Given the description of an element on the screen output the (x, y) to click on. 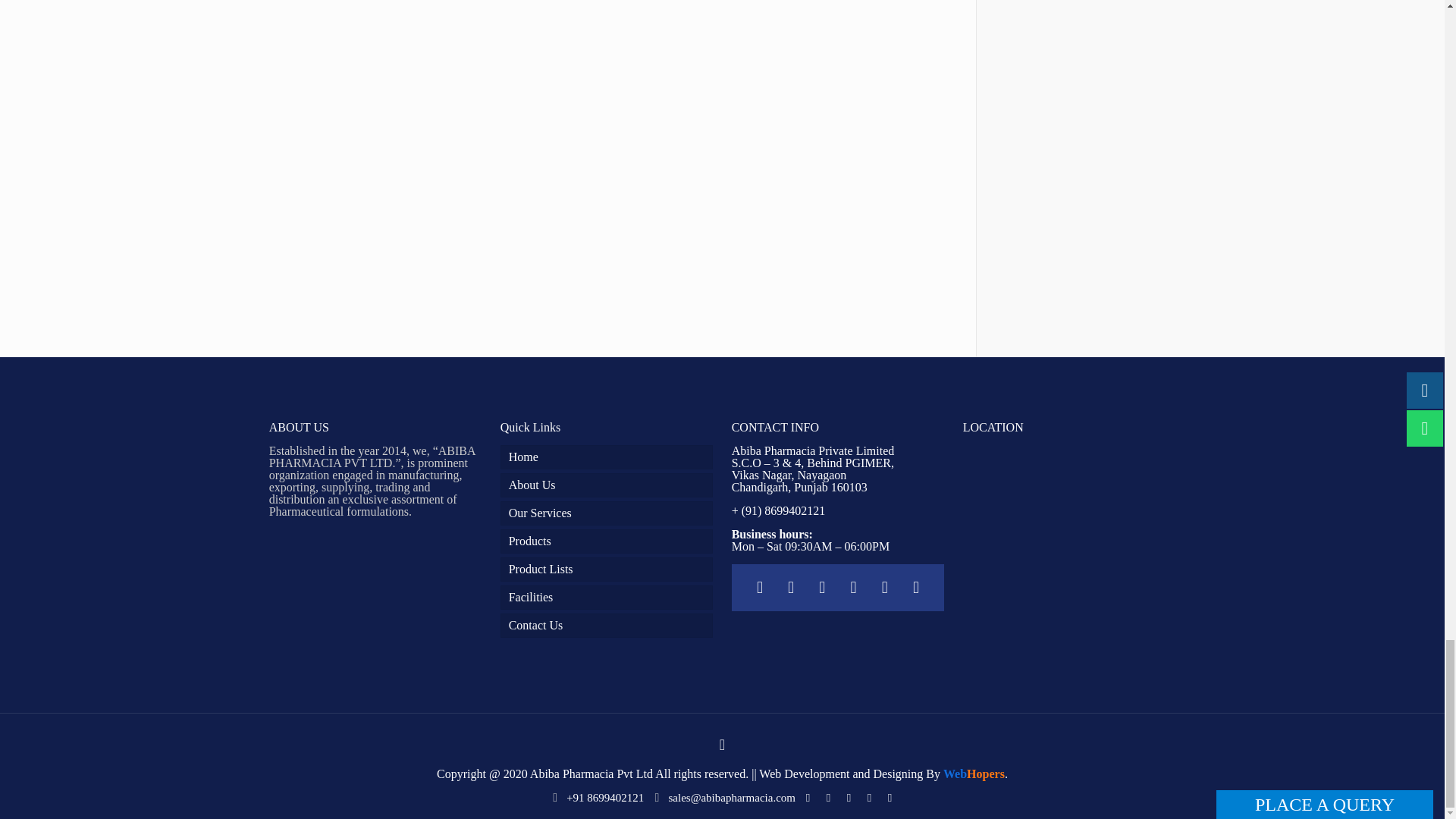
LinkedIn (849, 797)
Twitter (828, 797)
Facebook (807, 797)
Instagram (890, 797)
Pinterest (869, 797)
